Given the description of an element on the screen output the (x, y) to click on. 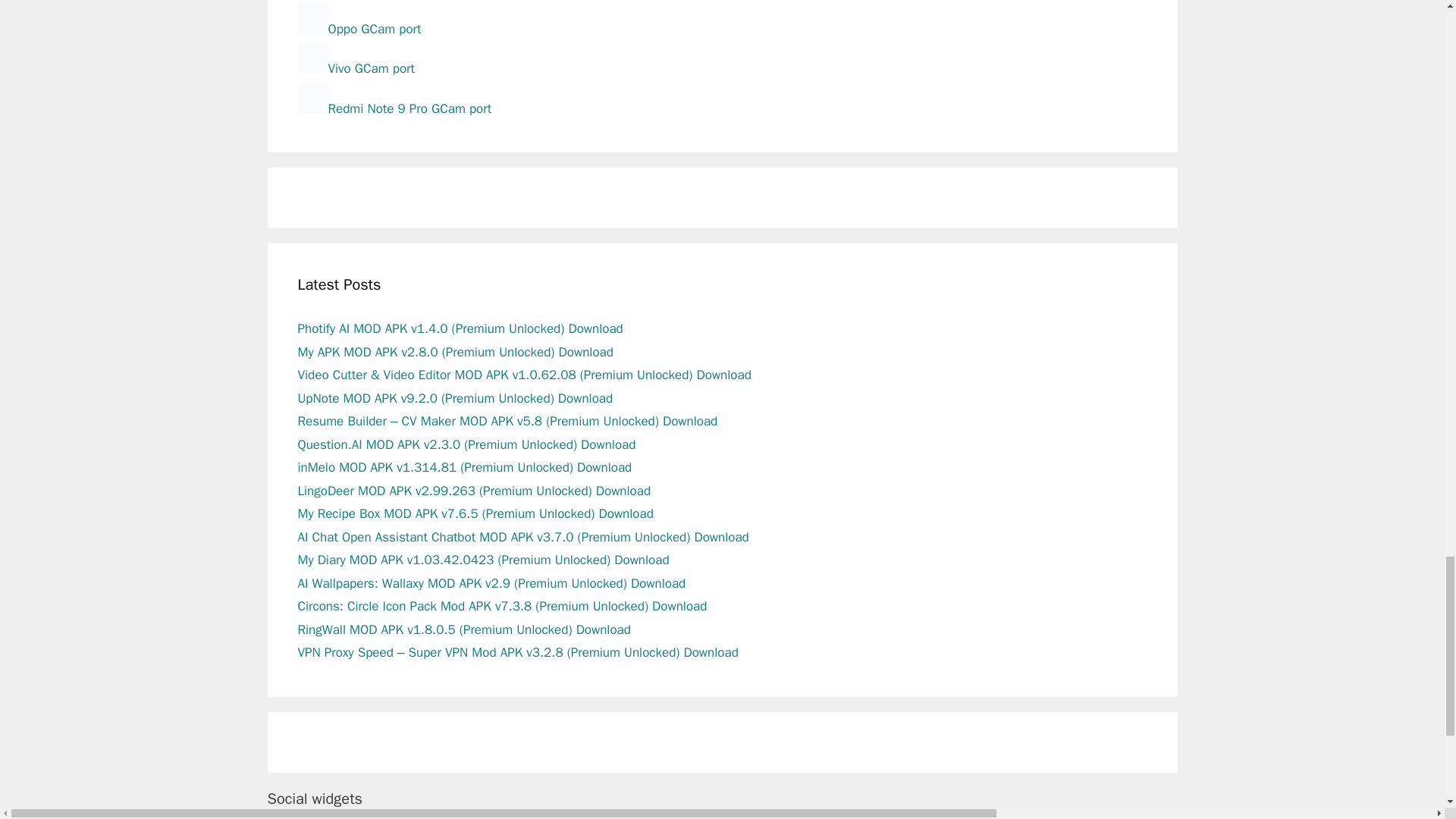
Vivo GCam port (355, 68)
Google camera port for oppo (358, 28)
Oppo GCam port (358, 28)
Redmi Note 9 Pro GCam port (394, 108)
GCam port for Redmi Note 9 Pro (394, 108)
Google camera port for Vivo (355, 68)
